Given the description of an element on the screen output the (x, y) to click on. 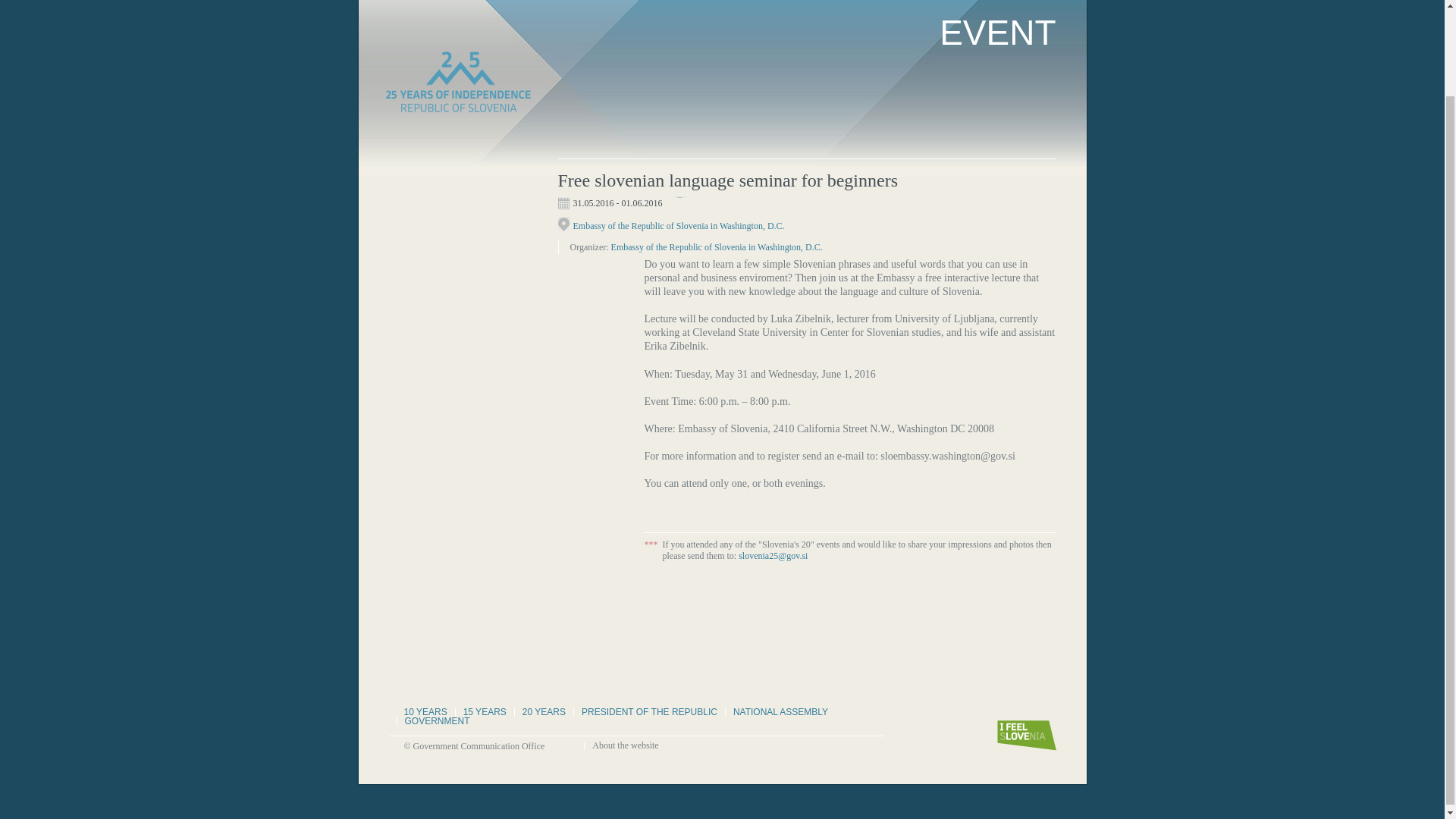
IN Government (437, 720)
National assembly (780, 711)
15 YEARS (484, 711)
10 YEARS (425, 711)
I feel Slovenia (1025, 735)
GOVERNMENT (437, 720)
President of the Republic (649, 711)
Embassy of the Republic of Slovenia in Washington, D.C. (716, 246)
15 years (484, 711)
10 years (425, 711)
PRESIDENT OF THE REPUBLIC (649, 711)
NATIONAL ASSEMBLY (780, 711)
20 YEARS (544, 711)
Embassy of the Republic of Slovenia in Washington, D.C. (678, 223)
About the website (625, 745)
